Given the description of an element on the screen output the (x, y) to click on. 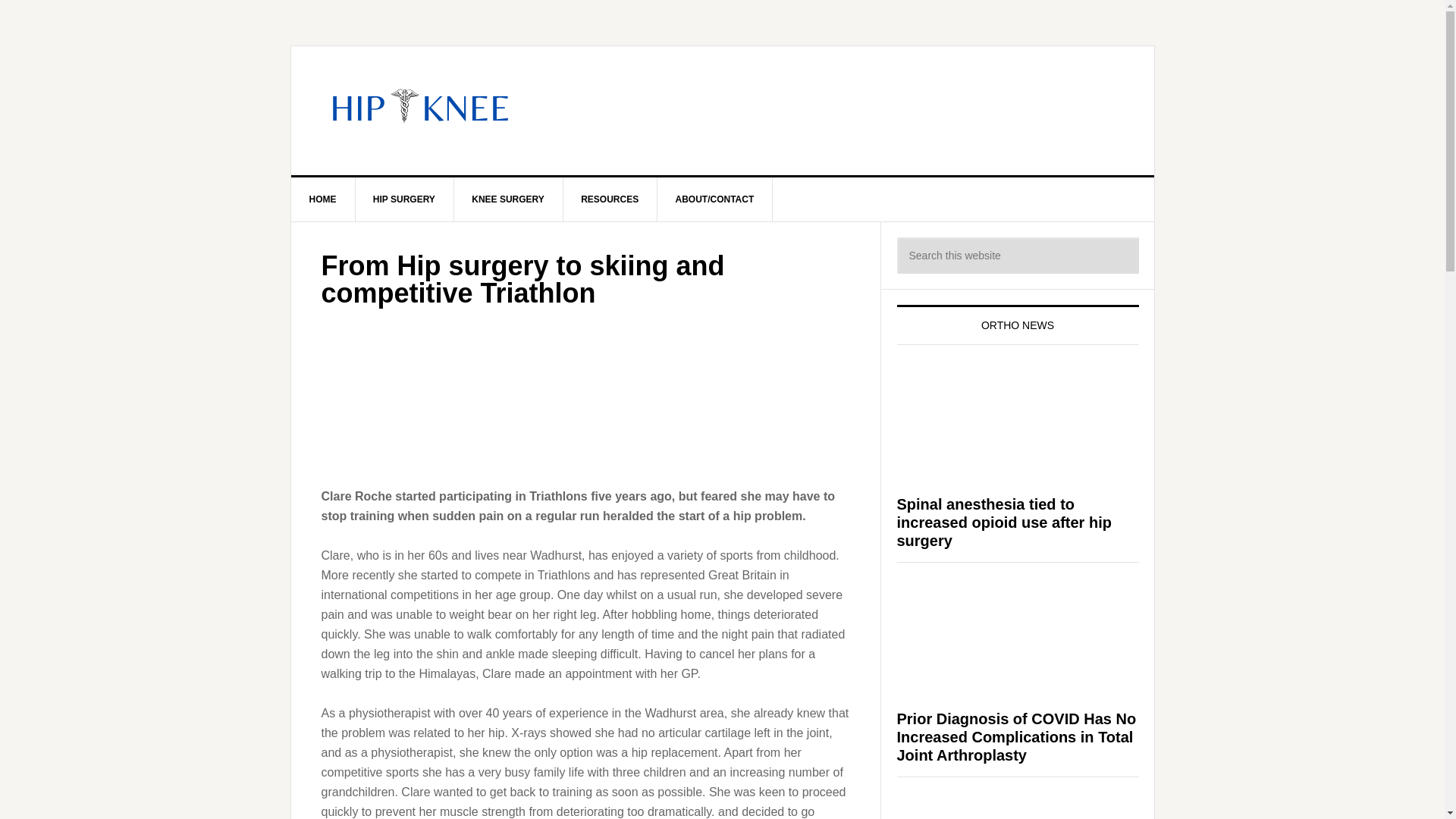
HOME (323, 199)
KNEE SURGERY (507, 199)
HIP AND KNEE NEWS (722, 110)
HIP SURGERY (404, 199)
RESOURCES (610, 199)
